Given the description of an element on the screen output the (x, y) to click on. 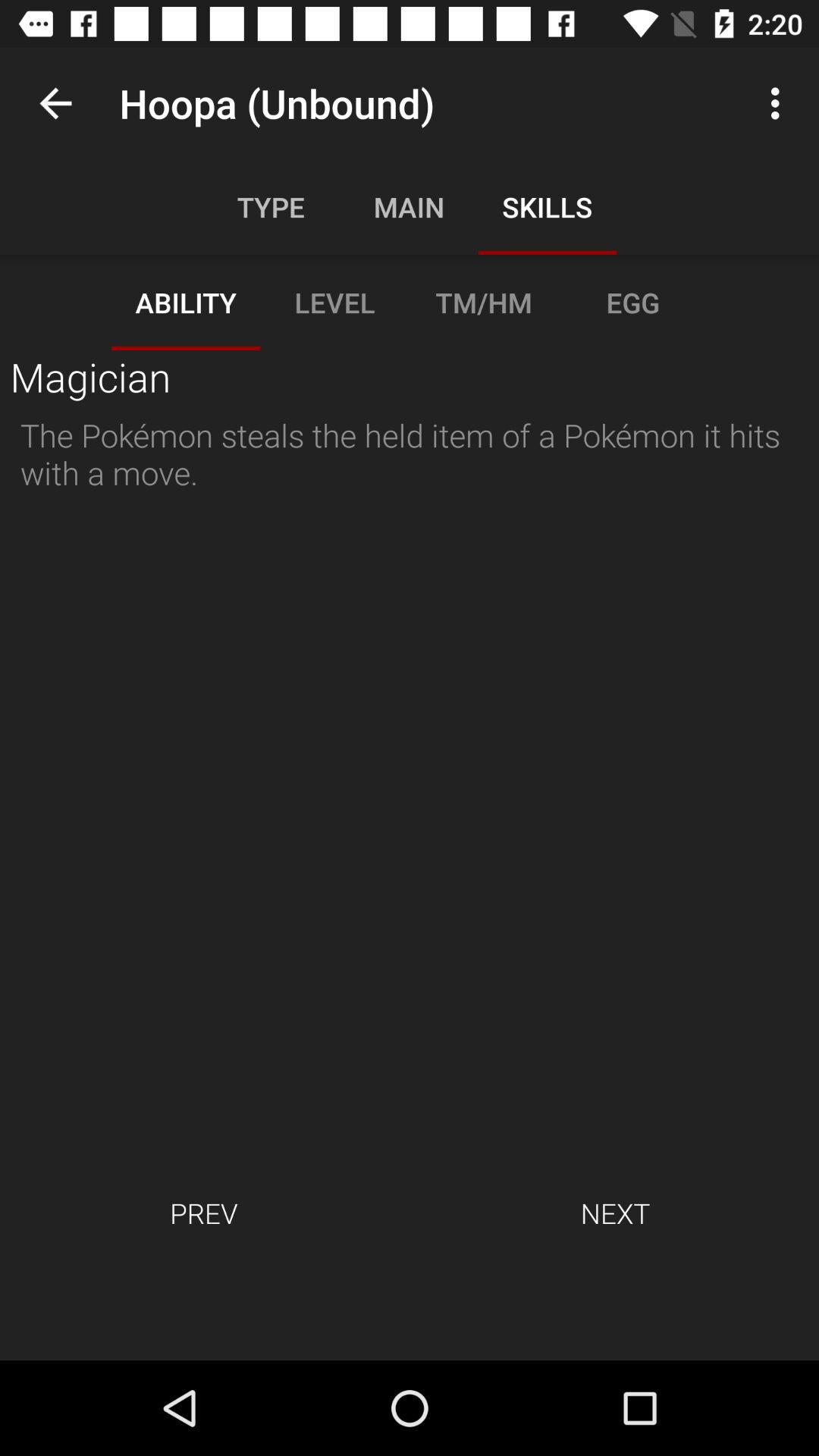
select the icon to the right of the hoopa (unbound) item (779, 103)
